Given the description of an element on the screen output the (x, y) to click on. 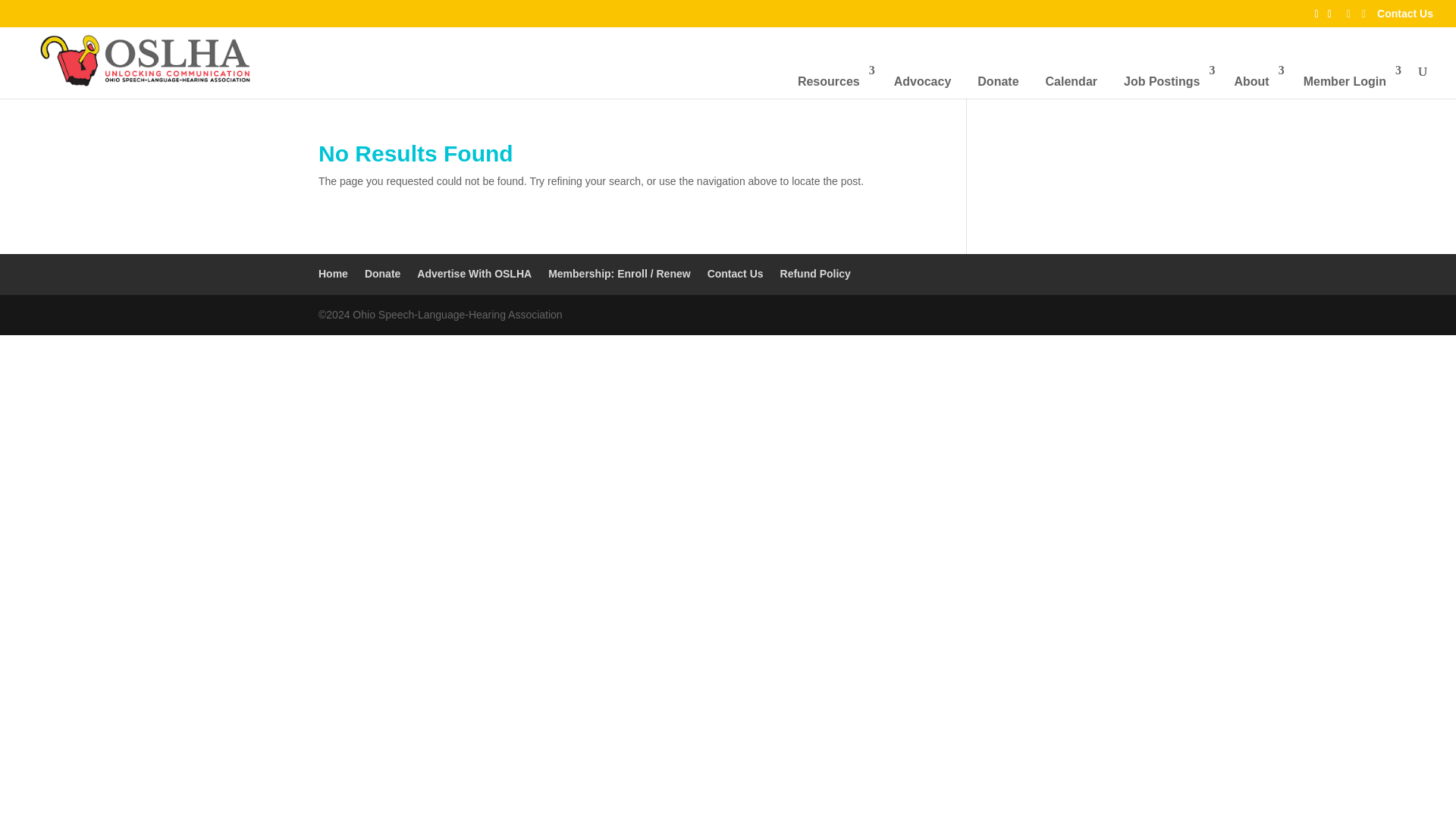
Job Postings (1165, 81)
Donate (997, 81)
Calendar (1071, 81)
Resources (832, 81)
About (1254, 81)
Advocacy (922, 81)
Member Login (1347, 81)
Contact Us (1404, 16)
